Given the description of an element on the screen output the (x, y) to click on. 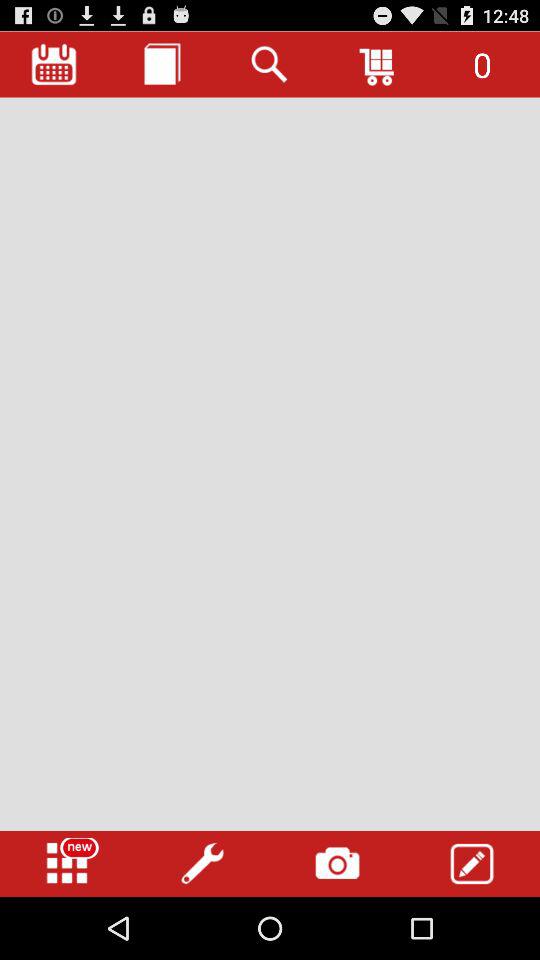
turn on button at the top (269, 64)
